Given the description of an element on the screen output the (x, y) to click on. 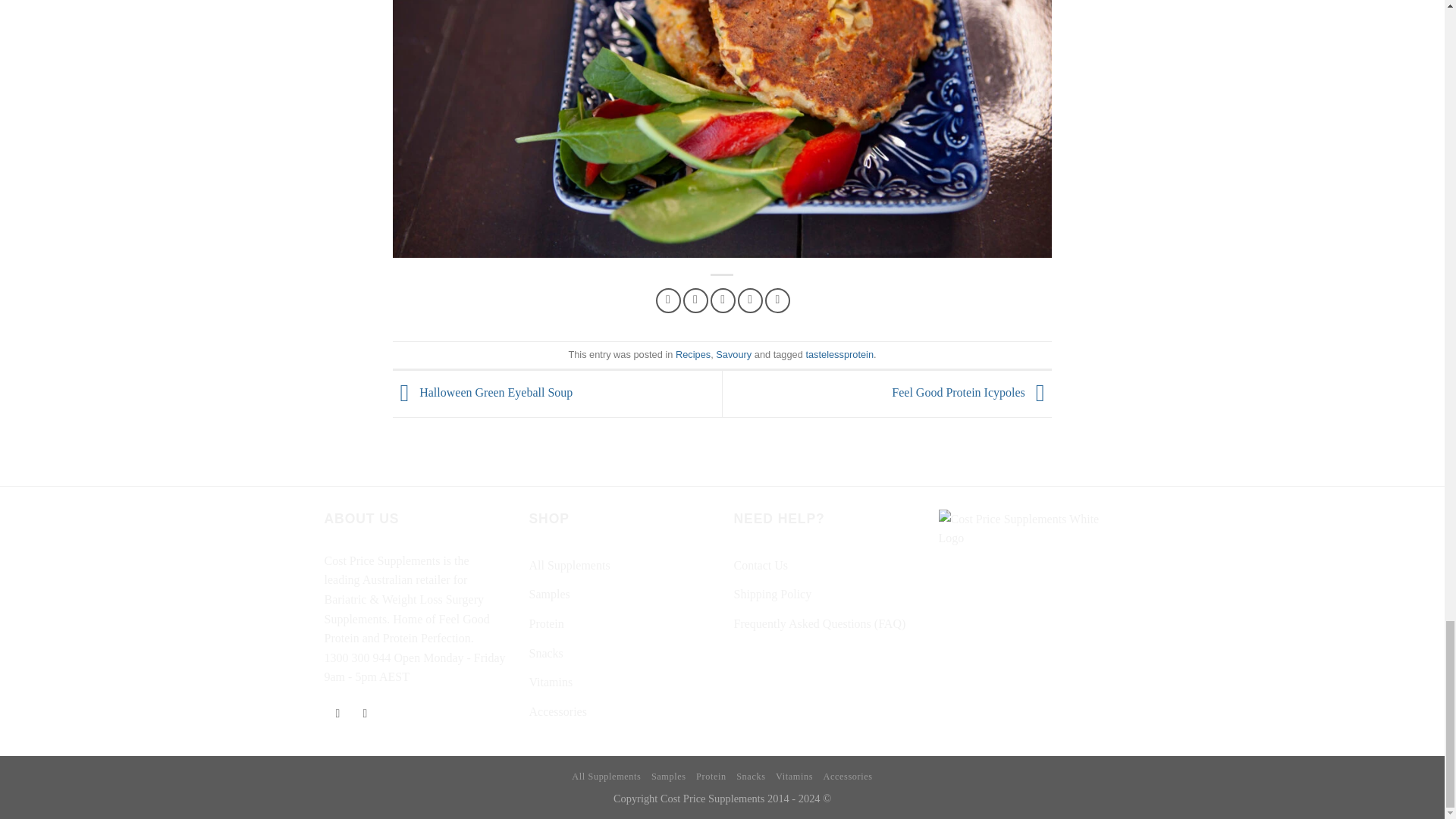
Email to a Friend (722, 300)
Share on Twitter (694, 300)
Follow on Facebook (337, 715)
Share on Facebook (668, 300)
Share on Tumblr (777, 300)
Pin on Pinterest (750, 300)
Follow on Instagram (364, 715)
